Given the description of an element on the screen output the (x, y) to click on. 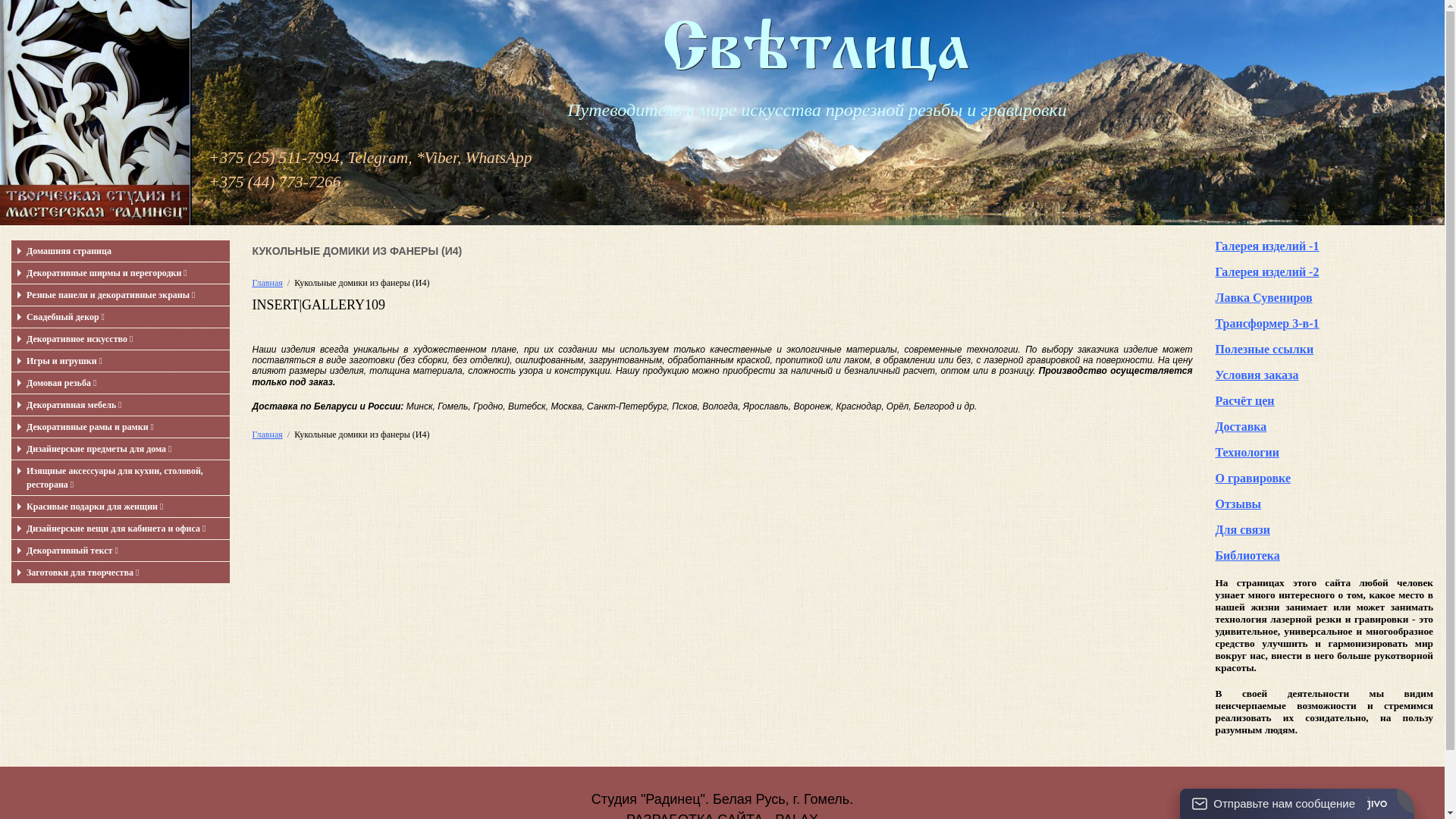
WhatsApp Element type: text (498, 157)
+375 (25) 511-7994, Telegram, Element type: text (310, 157)
+375 (44) 773-7266 Element type: text (274, 181)
* Element type: text (420, 157)
Viber Element type: text (440, 157)
